Given the description of an element on the screen output the (x, y) to click on. 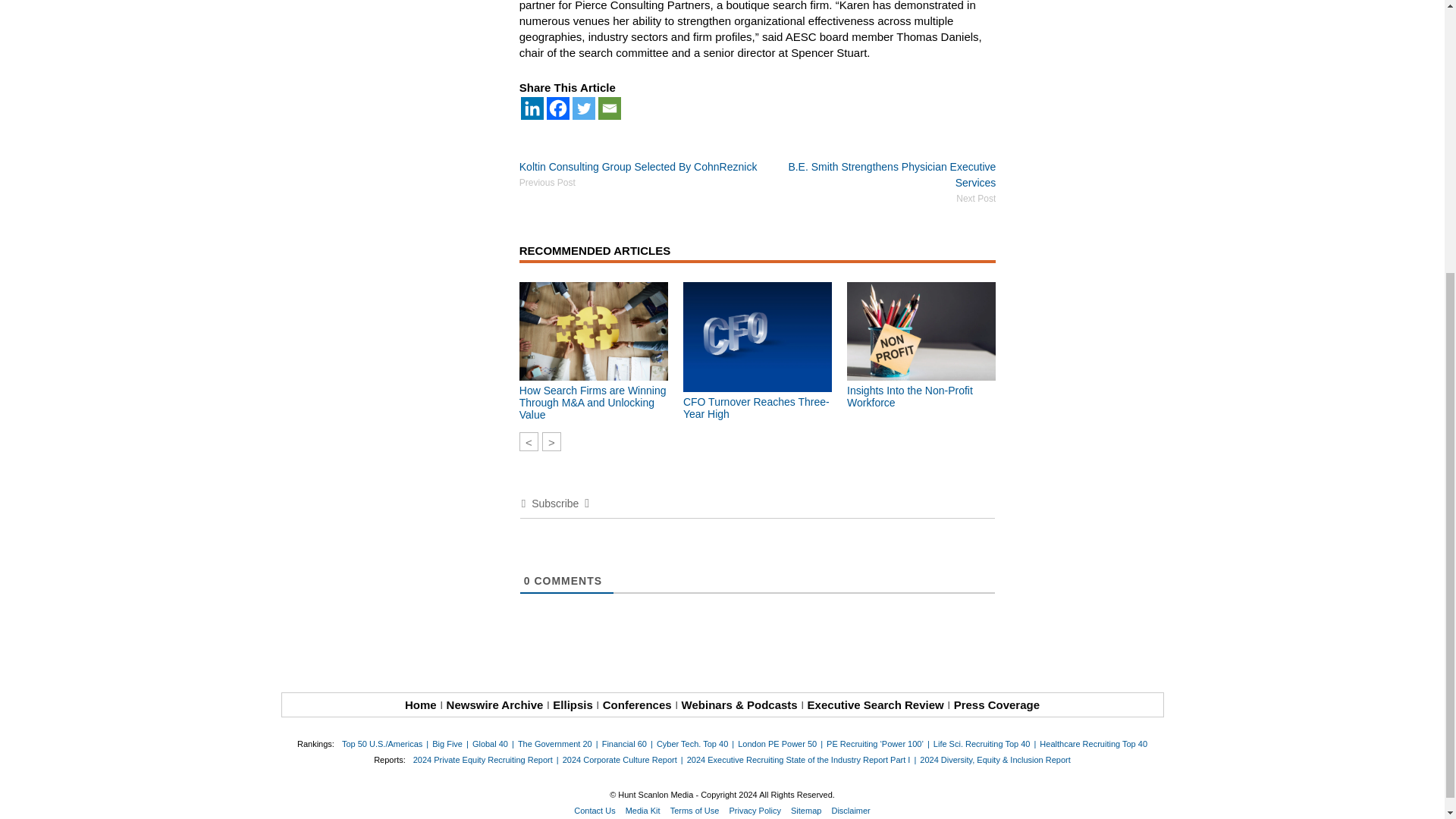
Linkedin (532, 108)
Facebook (558, 108)
Twitter (583, 108)
Email (609, 108)
